Given the description of an element on the screen output the (x, y) to click on. 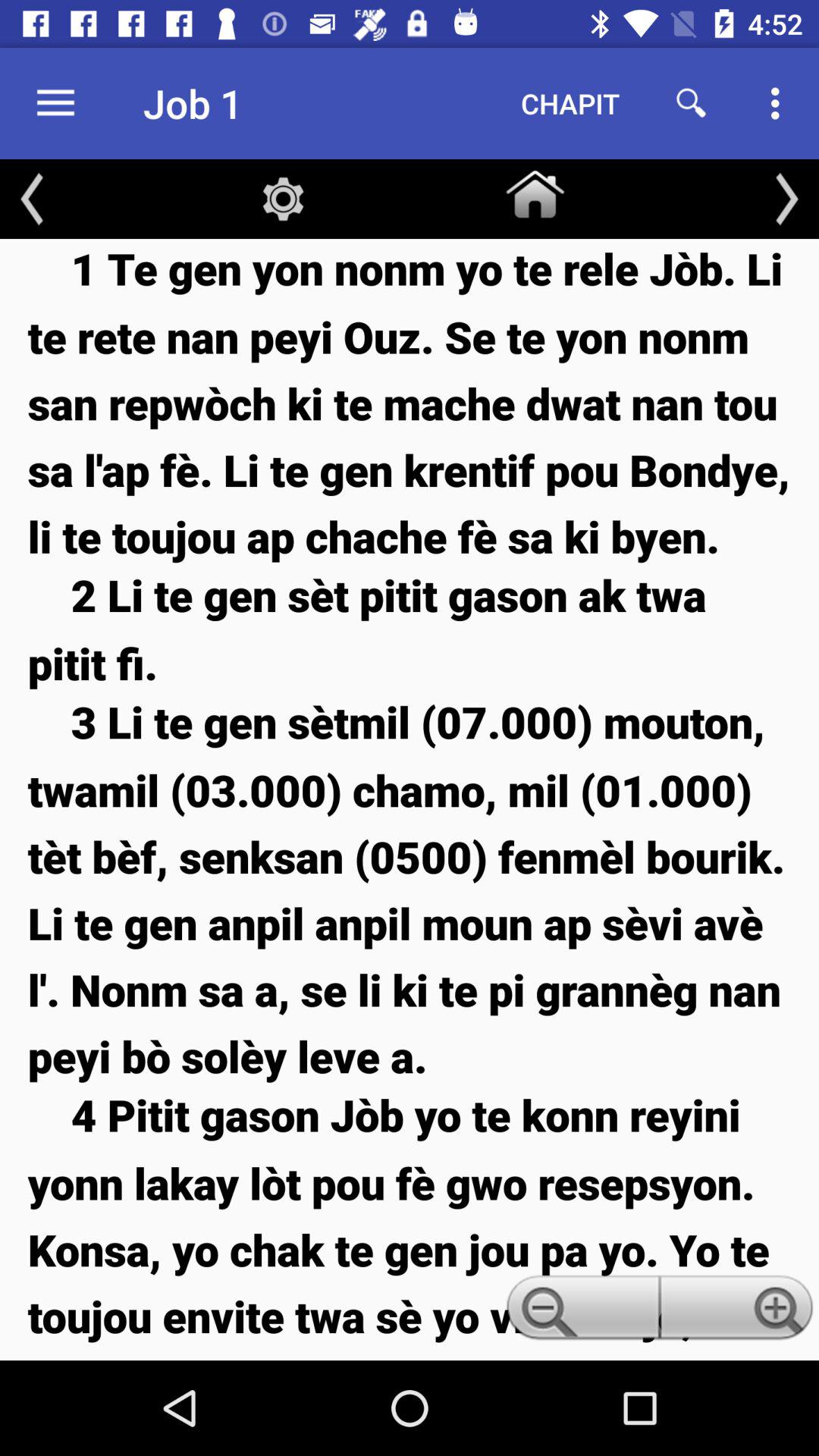
swipe to the chapit icon (570, 103)
